Given the description of an element on the screen output the (x, y) to click on. 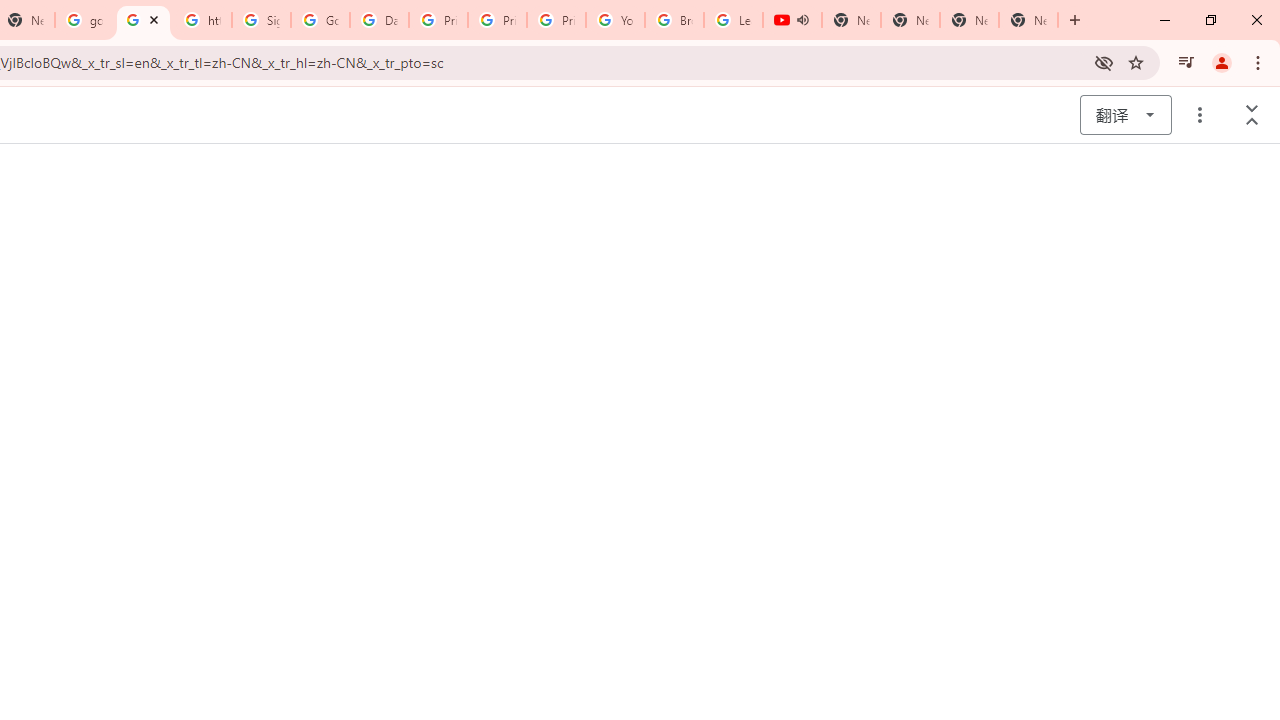
YouTube (615, 20)
New Tab (1028, 20)
https://scholar.google.com/ (201, 20)
Sign in - Google Accounts (260, 20)
